Given the description of an element on the screen output the (x, y) to click on. 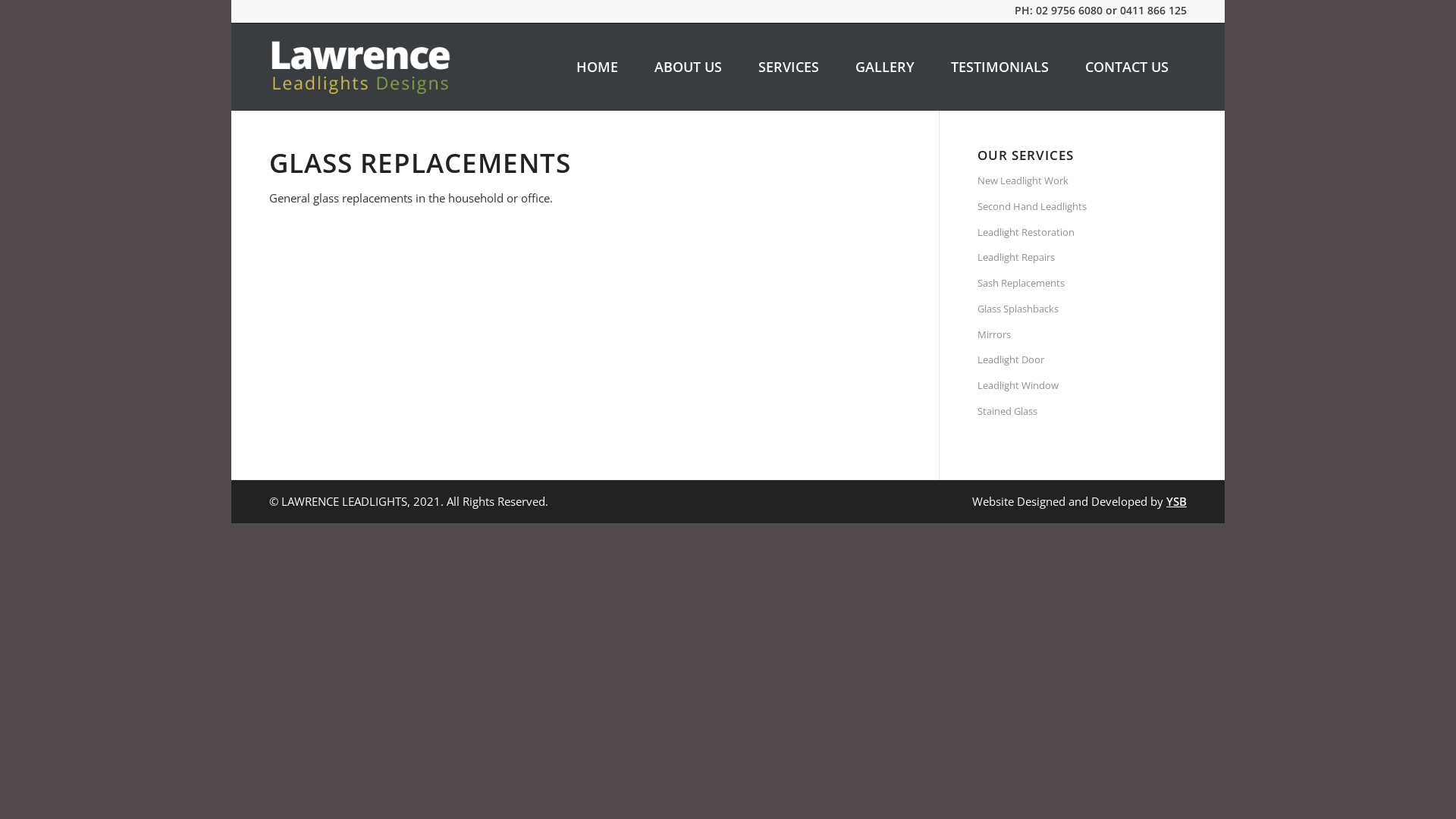
logoe-white6 Element type: hover (361, 66)
Mirrors Element type: text (1081, 335)
GALLERY Element type: text (884, 66)
TESTIMONIALS Element type: text (999, 66)
SERVICES Element type: text (788, 66)
Stained Glass Element type: text (1081, 411)
Second Hand Leadlights Element type: text (1081, 206)
Leadlight Repairs Element type: text (1081, 257)
Leadlight Door Element type: text (1081, 360)
Leadlight Restoration Element type: text (1081, 232)
Glass Splashbacks Element type: text (1081, 309)
HOME Element type: text (597, 66)
Leadlight Window Element type: text (1081, 385)
ABOUT US Element type: text (688, 66)
CONTACT US Element type: text (1126, 66)
New Leadlight Work Element type: text (1081, 181)
Sash Replacements Element type: text (1081, 283)
YSB Element type: text (1176, 500)
